Given the description of an element on the screen output the (x, y) to click on. 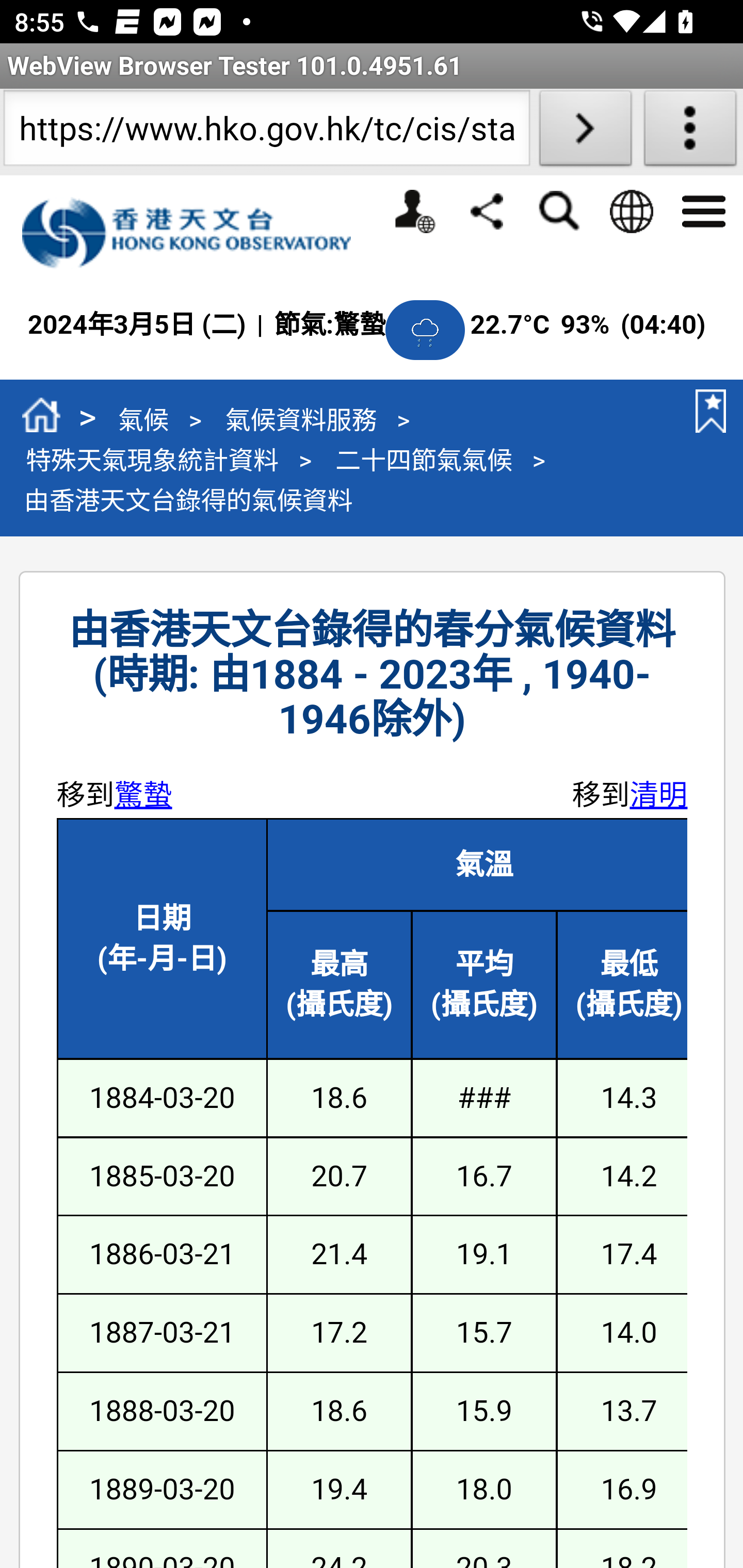
Load URL (585, 132)
About WebView (690, 132)
香港天文台 (197, 233)
個人版網站 個人版網站 (414, 211)
搜尋 搜尋 (558, 211)
語言 語言 (630, 211)
分享 分享 (486, 210)
選單 選單 (703, 209)
書籤 書籤 書籤 書籤 (706, 410)
主頁 (41, 417)
氣候 (143, 419)
氣候資料服務 (300, 419)
特殊天氣現象統計資料 (152, 458)
二十四節氣氣候 (422, 458)
驚蟄 (143, 794)
清明 (658, 794)
